Given the description of an element on the screen output the (x, y) to click on. 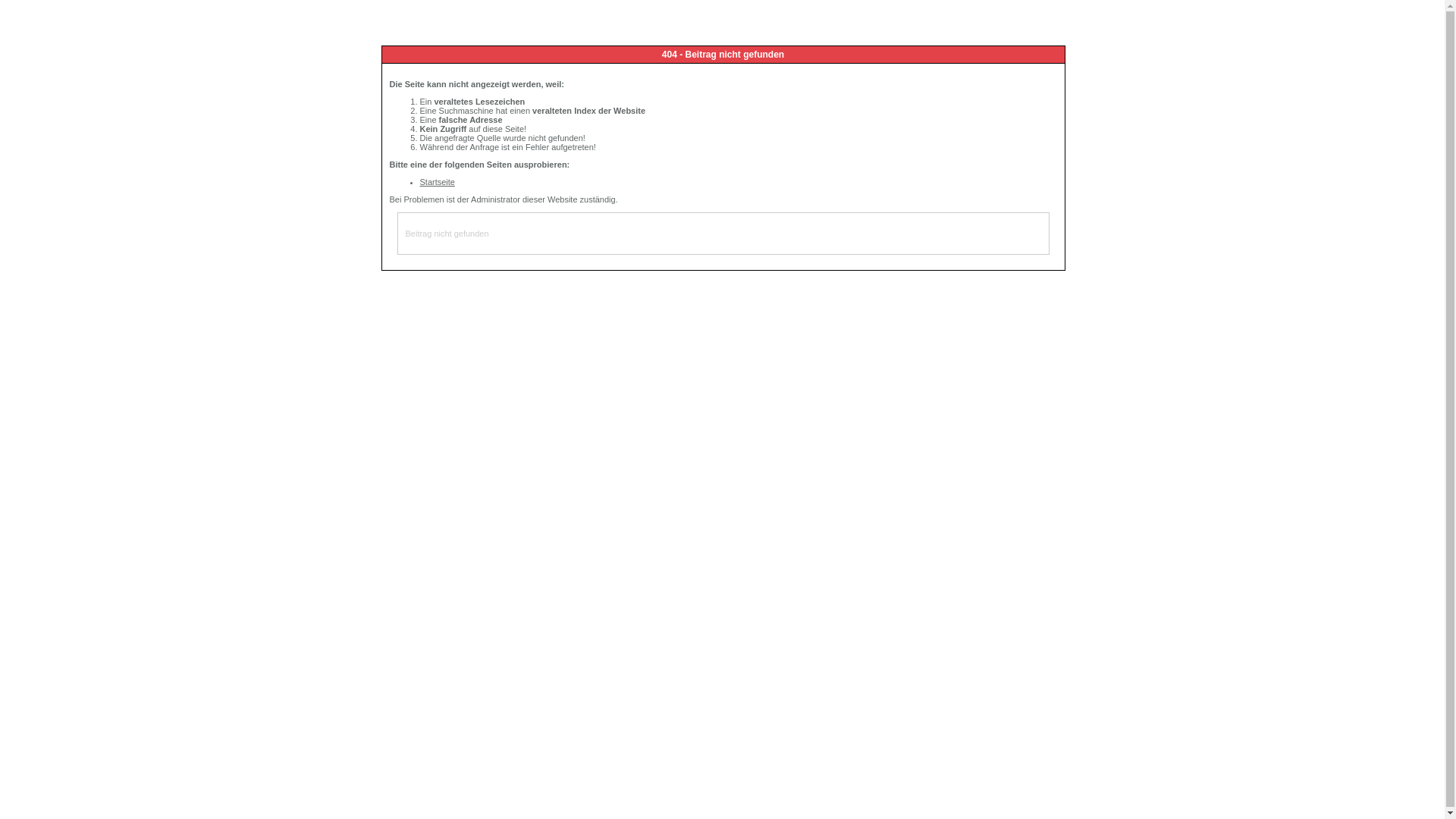
Startseite Element type: text (437, 181)
